Given the description of an element on the screen output the (x, y) to click on. 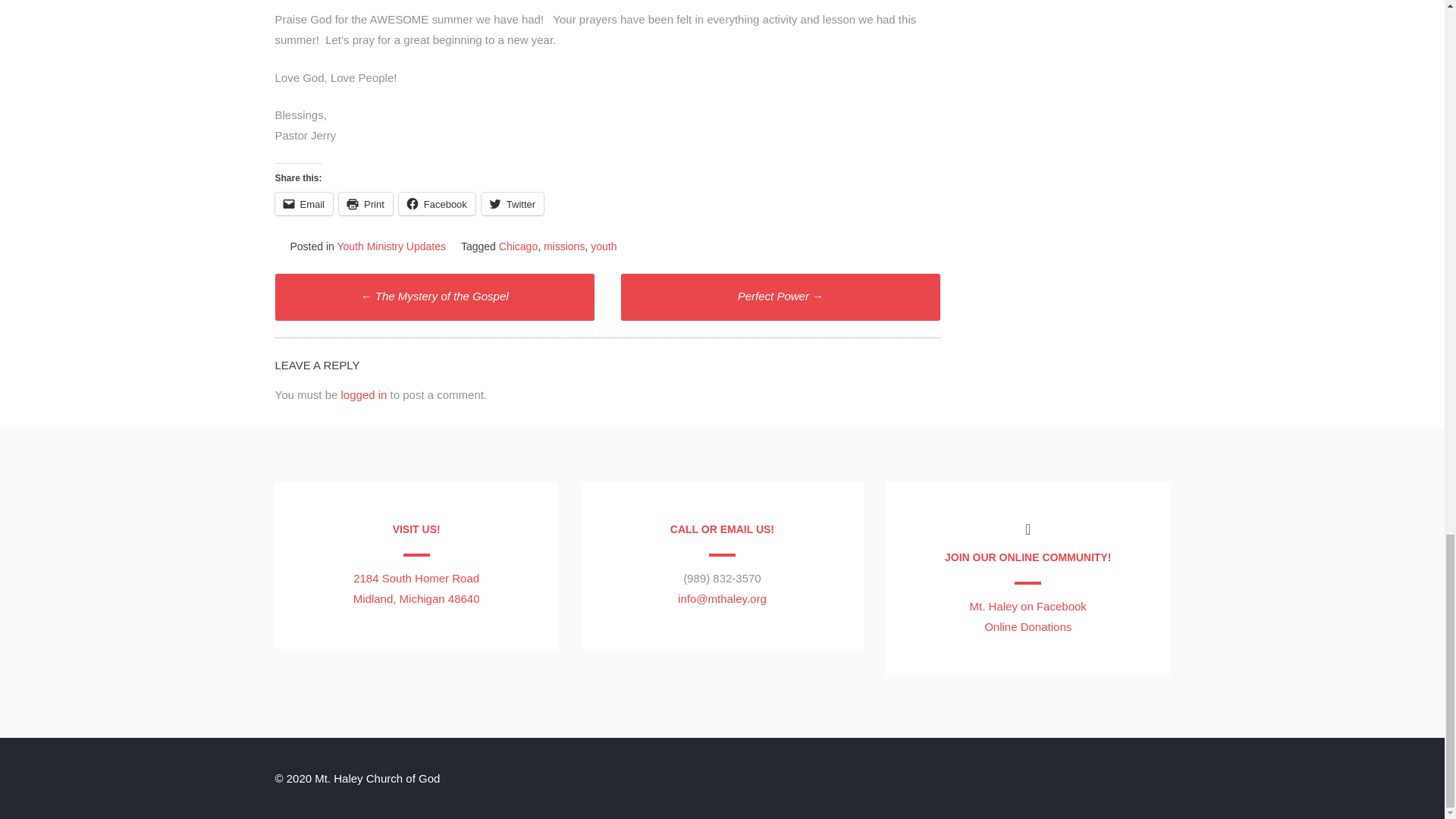
Email (304, 203)
Print (366, 203)
Twitter (512, 203)
Youth Ministry Updates (391, 246)
logged in (363, 394)
Chicago (518, 246)
youth (603, 246)
Facebook (437, 203)
Click to share on Facebook (437, 203)
missions (564, 246)
